Given the description of an element on the screen output the (x, y) to click on. 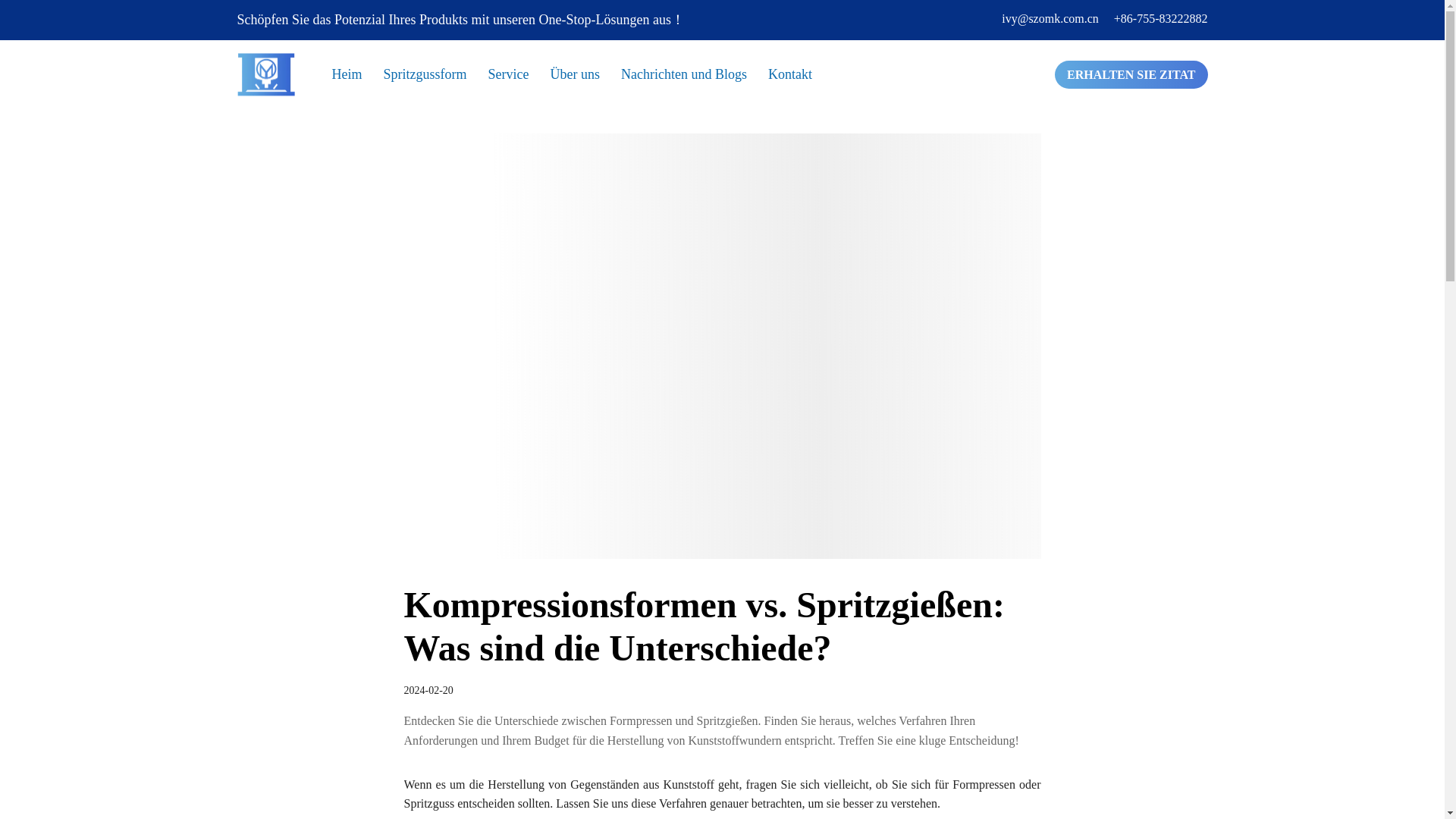
Nachrichten und Blogs (694, 76)
Kontakt (790, 76)
Heim (357, 76)
Spritzgussform (435, 76)
Service (518, 76)
